Given the description of an element on the screen output the (x, y) to click on. 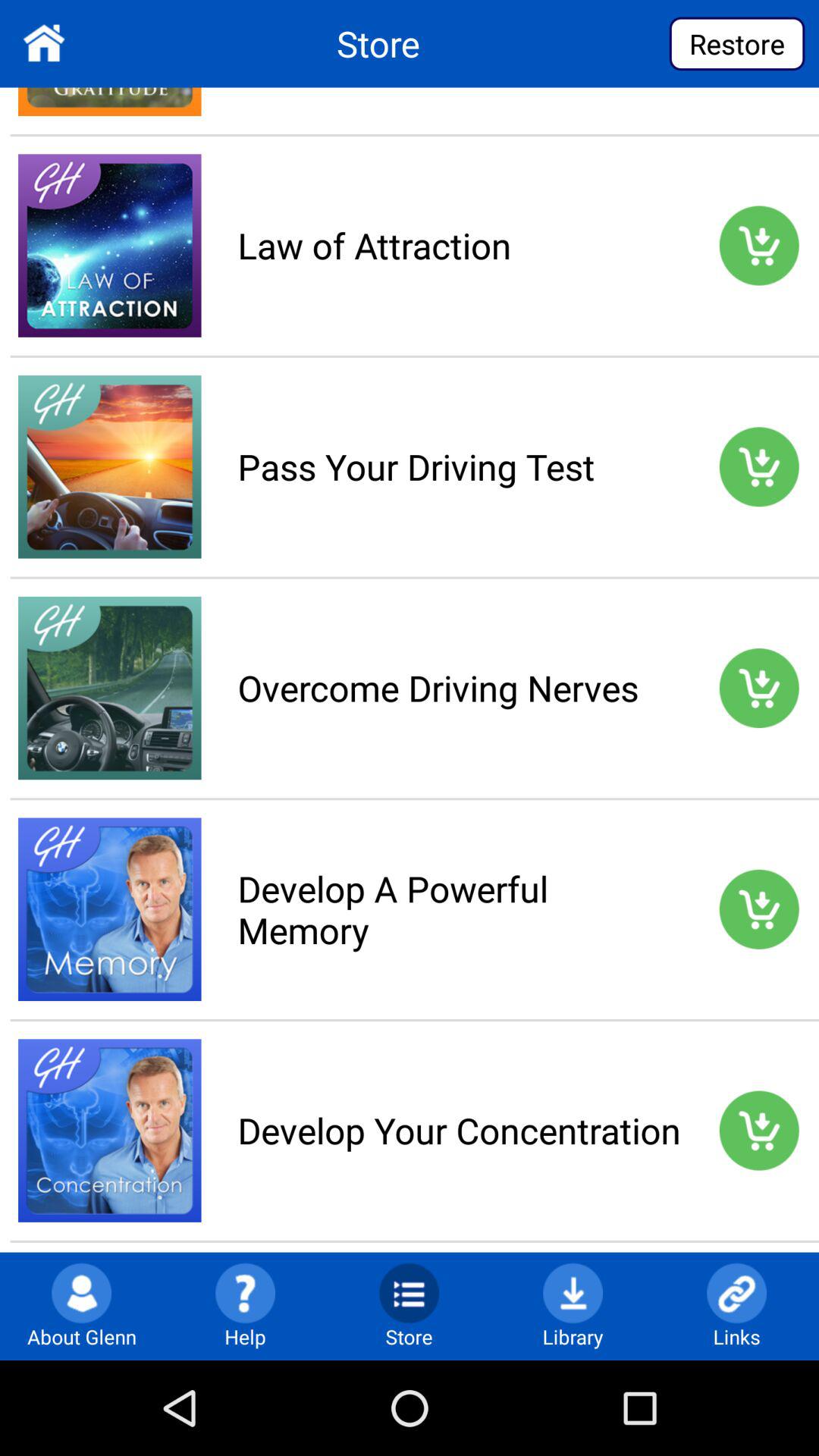
scroll until overcome driving nerves app (459, 687)
